Given the description of an element on the screen output the (x, y) to click on. 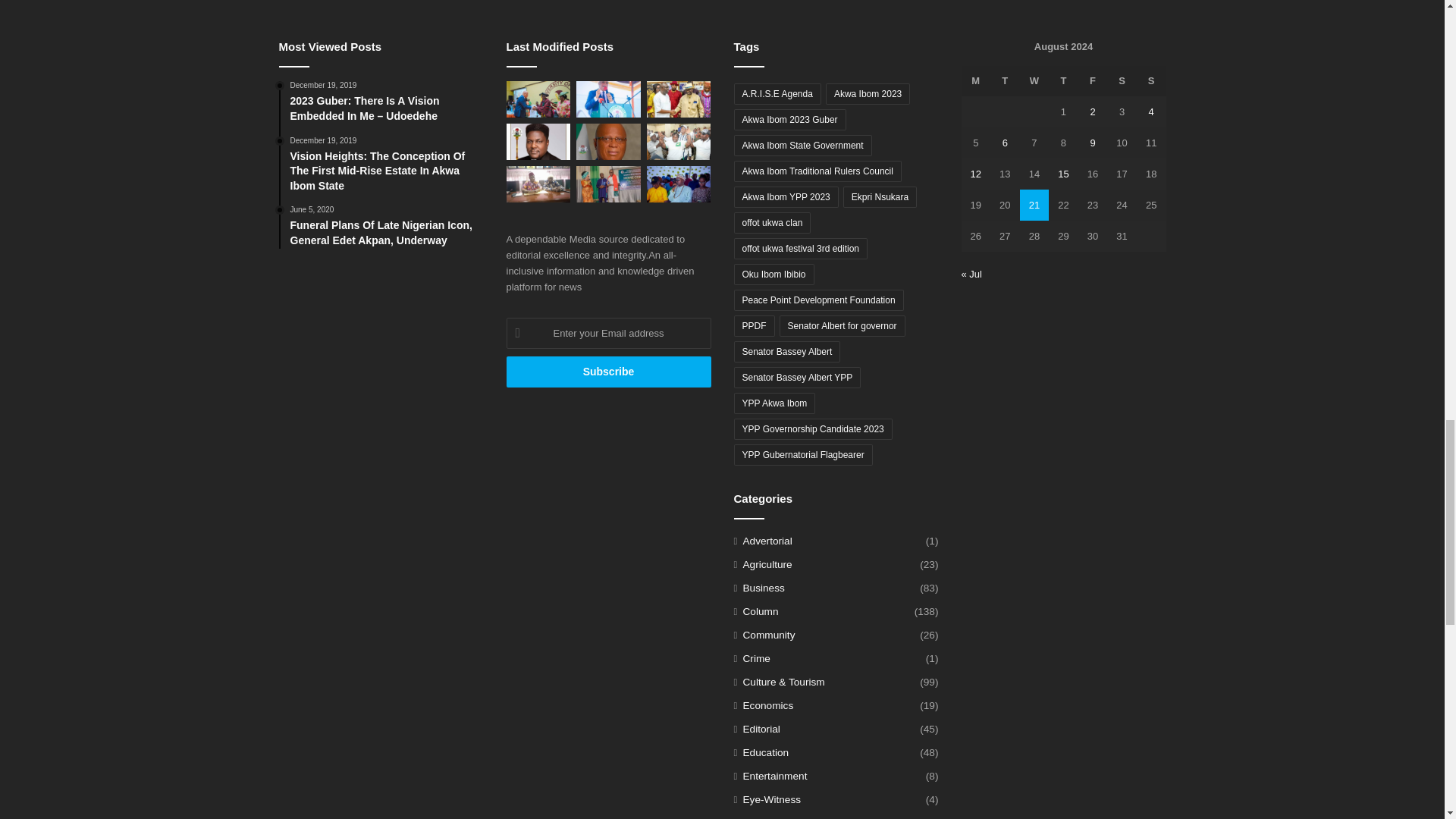
Sunday (1151, 80)
Thursday (1063, 80)
Tuesday (1005, 80)
Monday (975, 80)
Friday (1093, 80)
Subscribe (608, 371)
Wednesday (1034, 80)
Saturday (1121, 80)
